Given the description of an element on the screen output the (x, y) to click on. 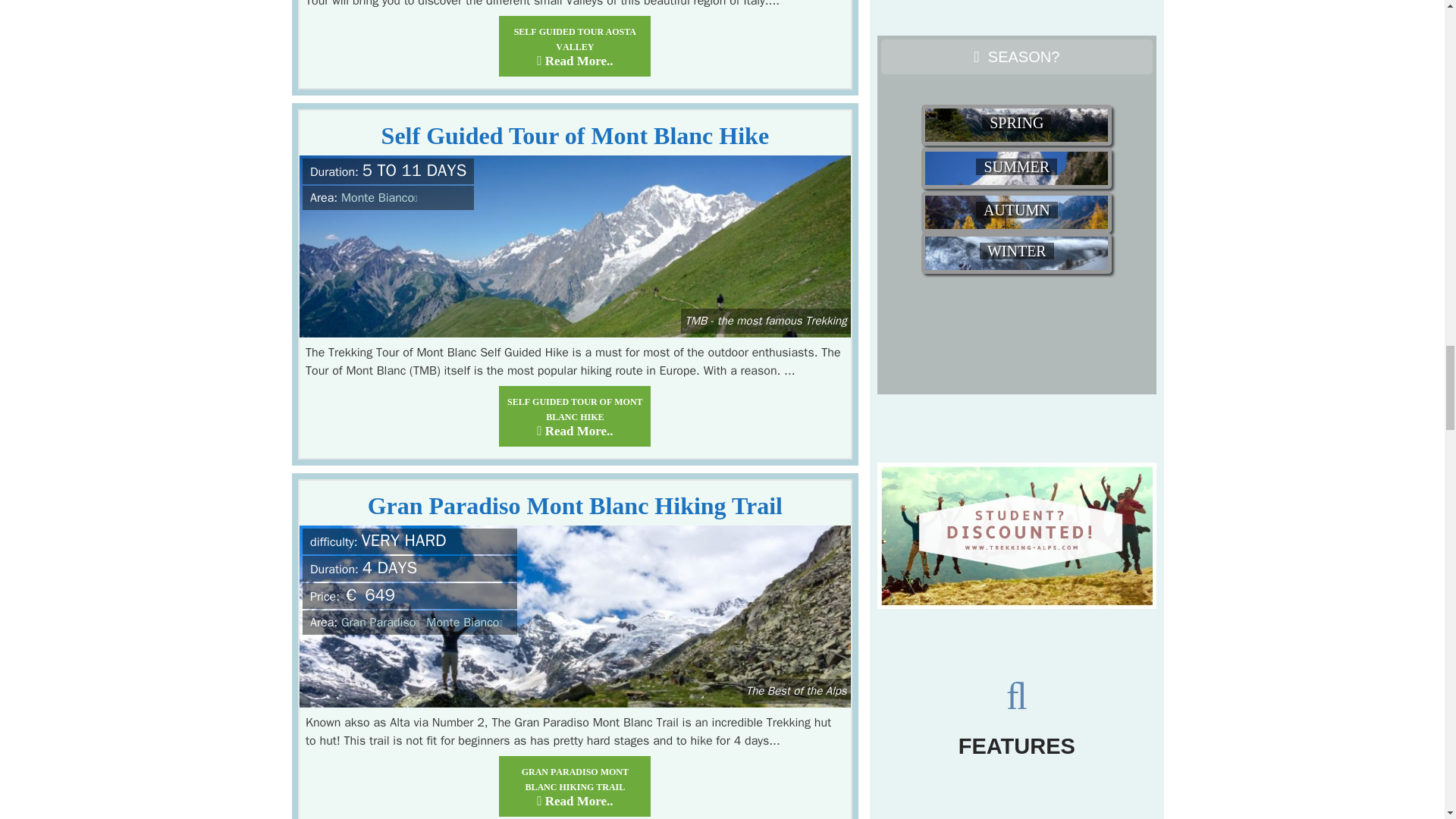
Browse all Hikes in the Area: Monte Bianco (380, 197)
Browse all Hikes in the Area: Monte Bianco (465, 622)
Browse all Hikes in the Area: Gran Paradiso (381, 622)
